Given the description of an element on the screen output the (x, y) to click on. 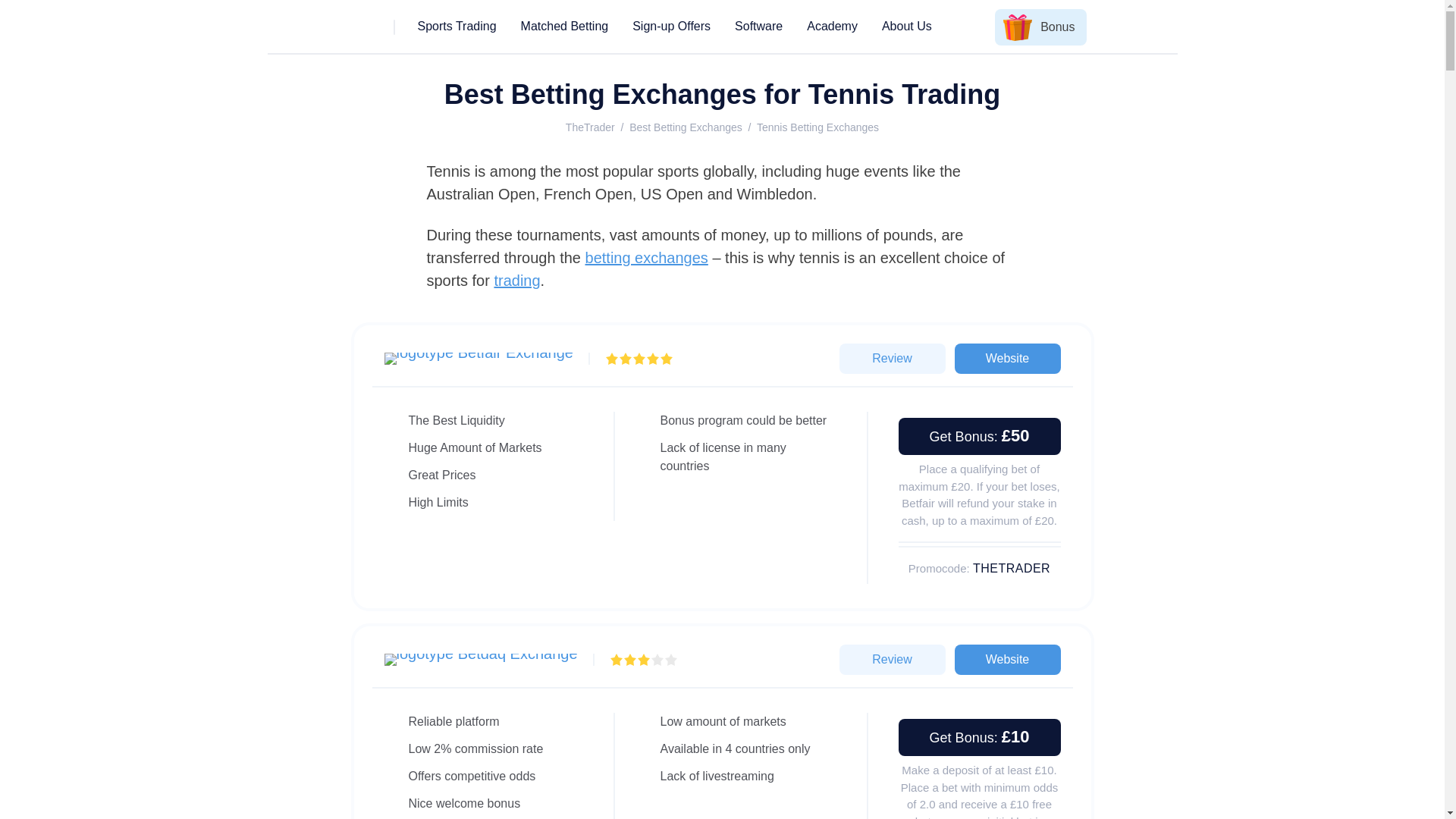
Search (1150, 27)
Sports Trading (456, 26)
TheTrader (590, 127)
trading (516, 280)
Best Betting Exchanges (685, 127)
Review (891, 659)
Sign-up Offers (670, 26)
Website (1006, 659)
Academy (831, 26)
Website (1006, 358)
